Given the description of an element on the screen output the (x, y) to click on. 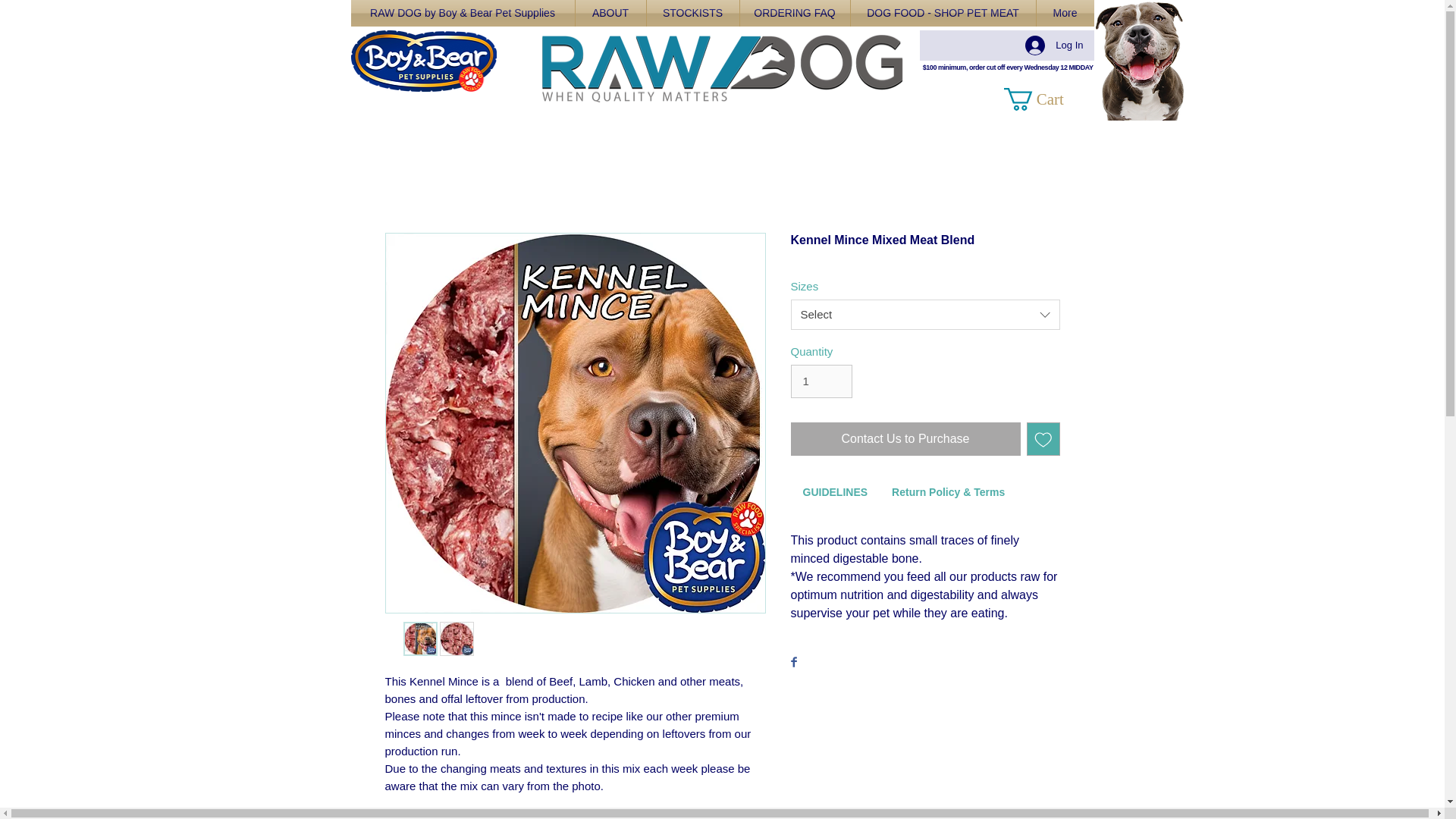
ABOUT (610, 13)
Use right and left arrows to navigate between tabs (947, 493)
1 (820, 381)
Cart (1049, 98)
Use right and left arrows to navigate between tabs (834, 493)
STOCKISTS (692, 13)
Log In (1053, 45)
DOG FOOD - SHOP PET MEAT (942, 13)
ORDERING FAQ (794, 13)
